Given the description of an element on the screen output the (x, y) to click on. 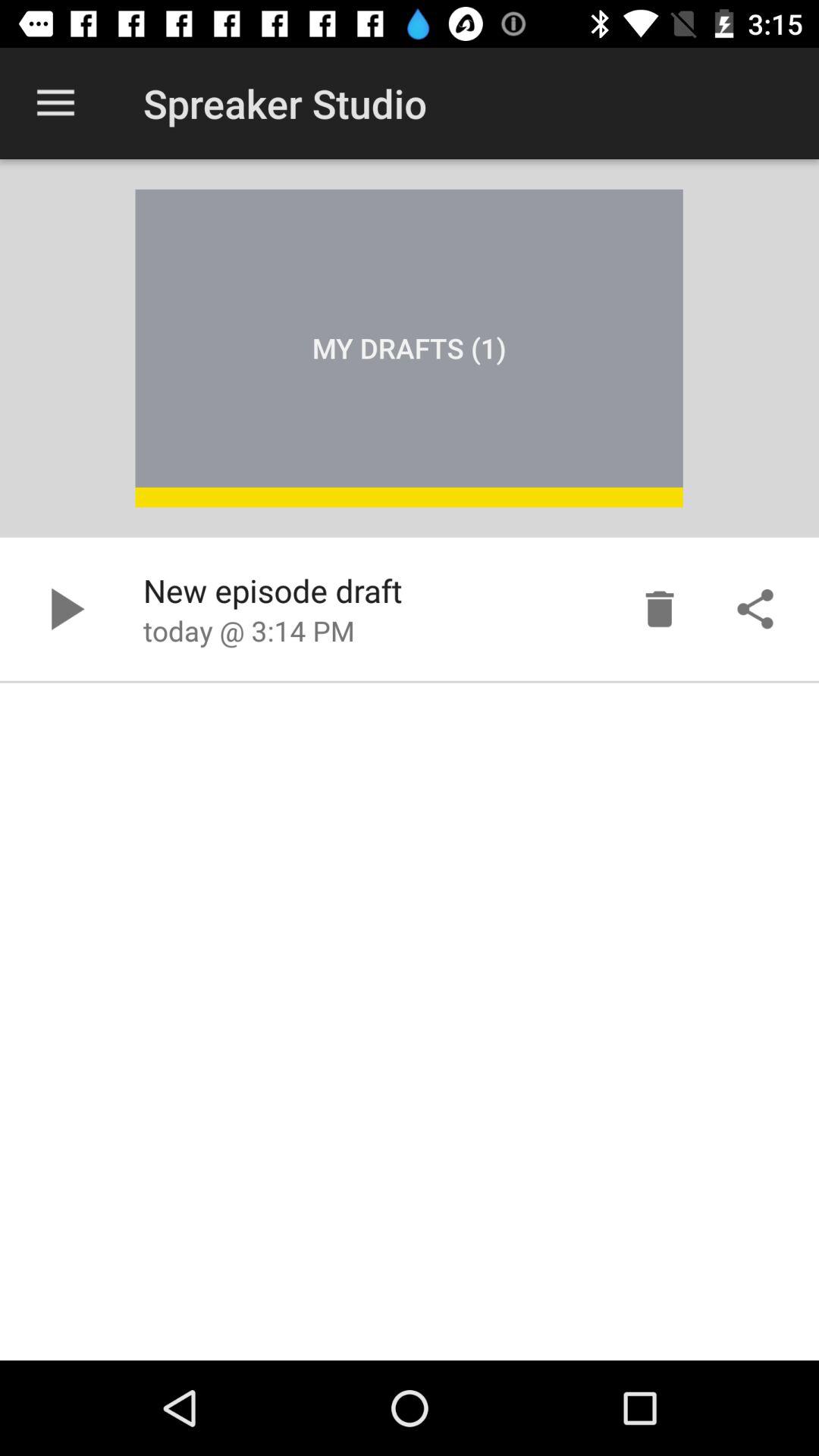
tap icon next to spreaker studio app (55, 103)
